Given the description of an element on the screen output the (x, y) to click on. 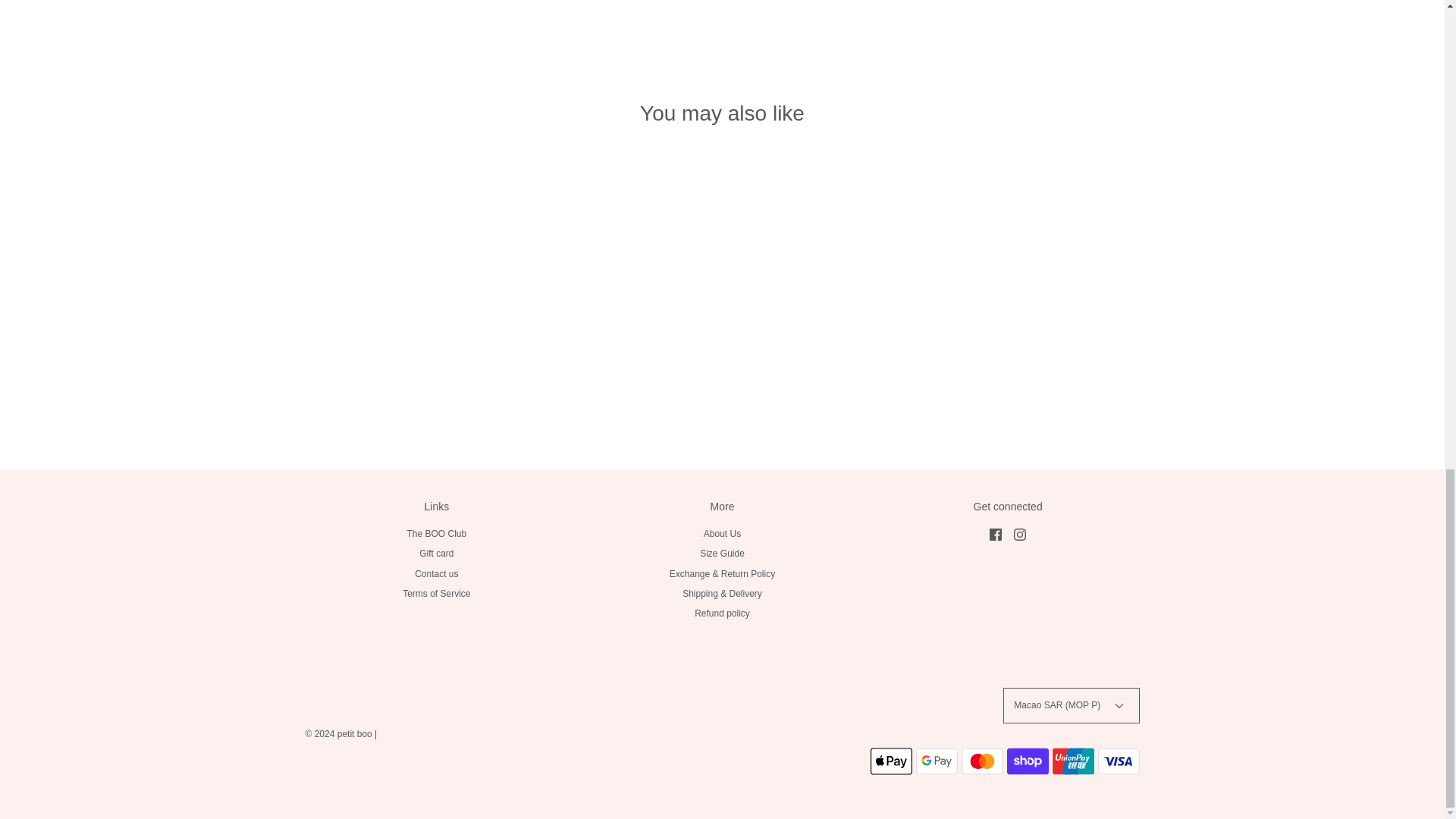
Facebook icon (995, 534)
Apple Pay (891, 761)
Instagram icon (1019, 534)
